Given the description of an element on the screen output the (x, y) to click on. 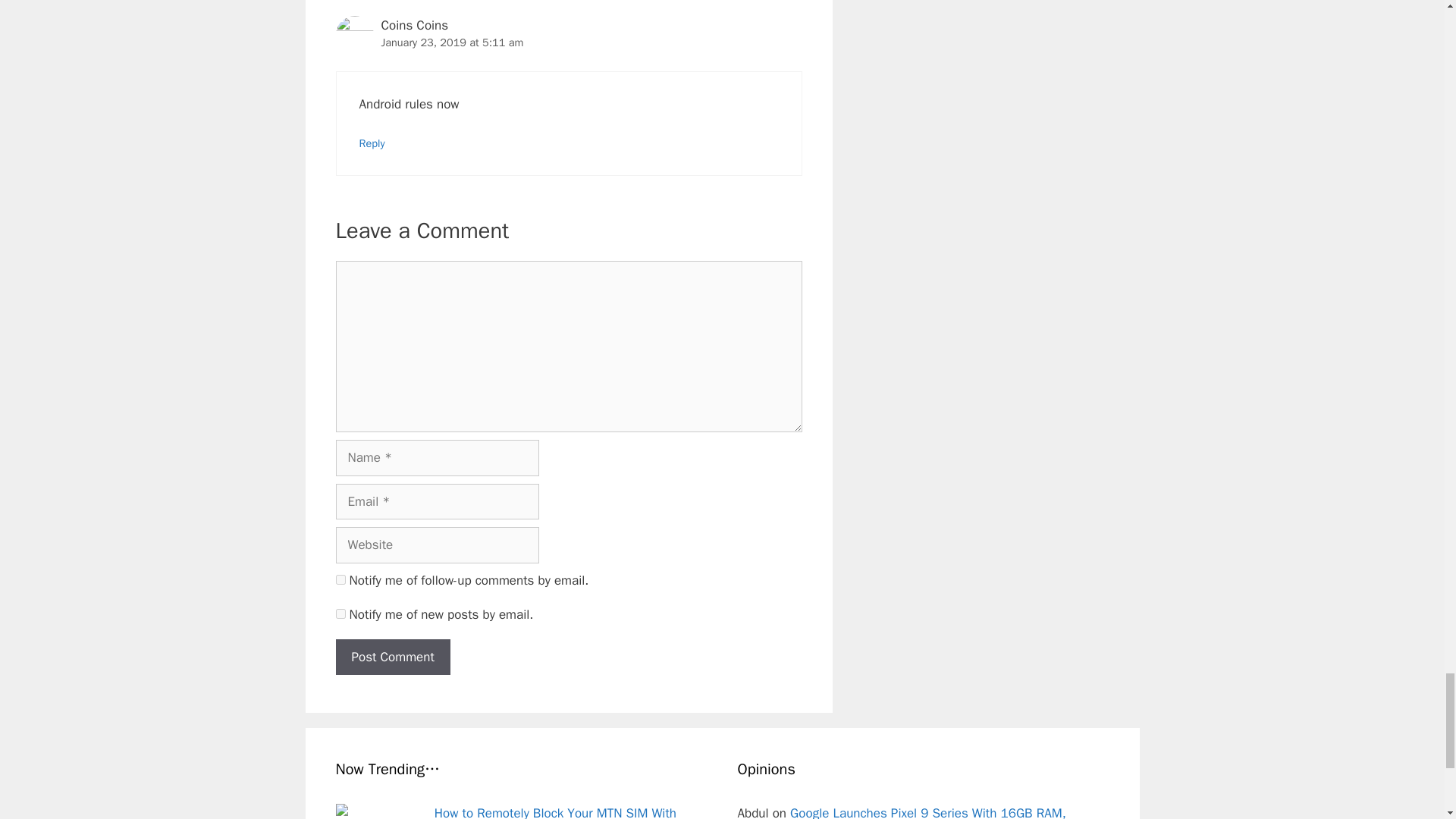
subscribe (339, 579)
Post Comment (391, 657)
subscribe (339, 614)
